Given the description of an element on the screen output the (x, y) to click on. 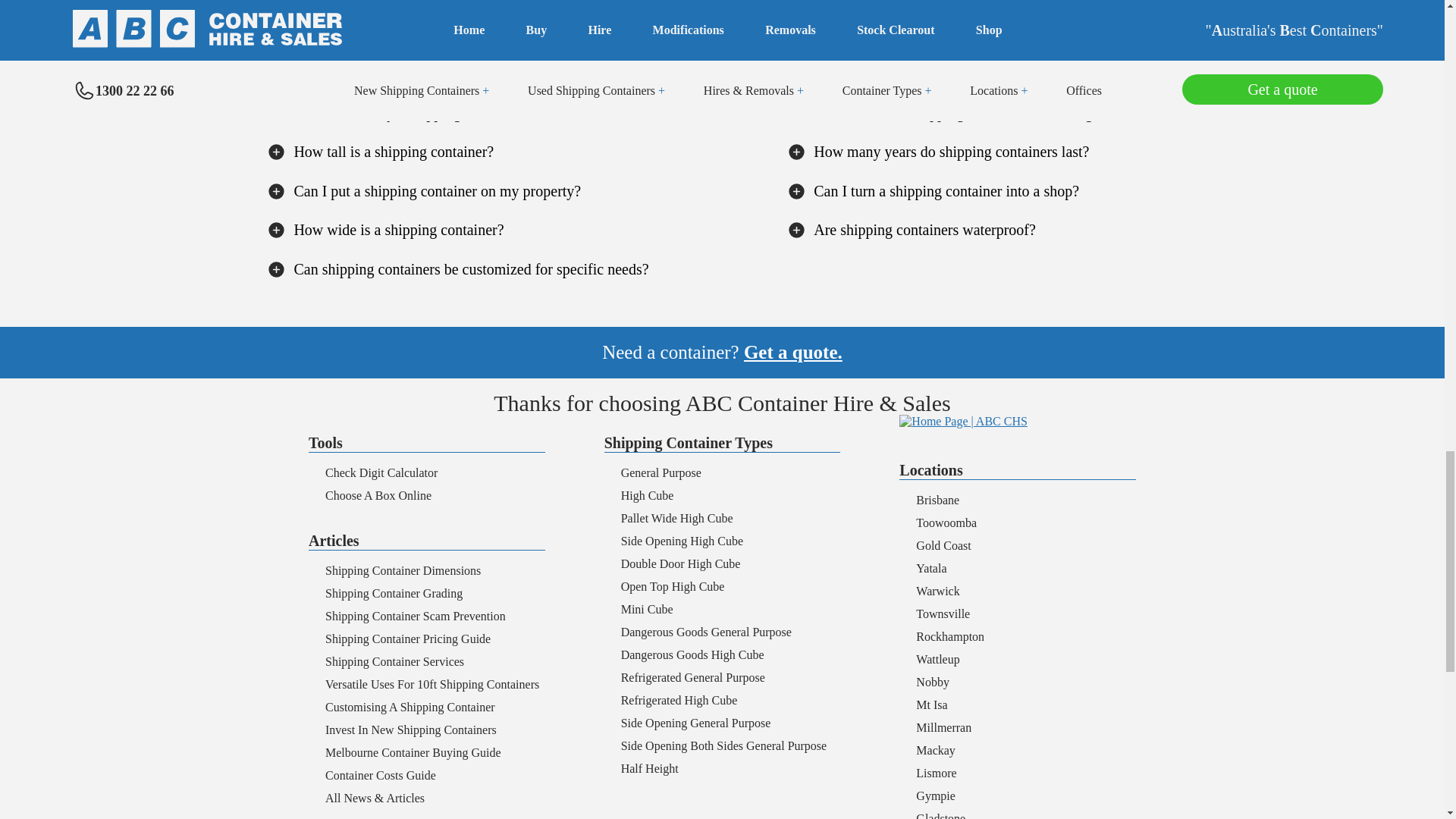
Check Digit Calculator (381, 472)
Shipping Container Scam Prevention (414, 615)
Get a quote. (793, 351)
Shipping Container Dimensions (402, 570)
Shipping Container Grading (393, 593)
Choose A Box Online (377, 495)
